Given the description of an element on the screen output the (x, y) to click on. 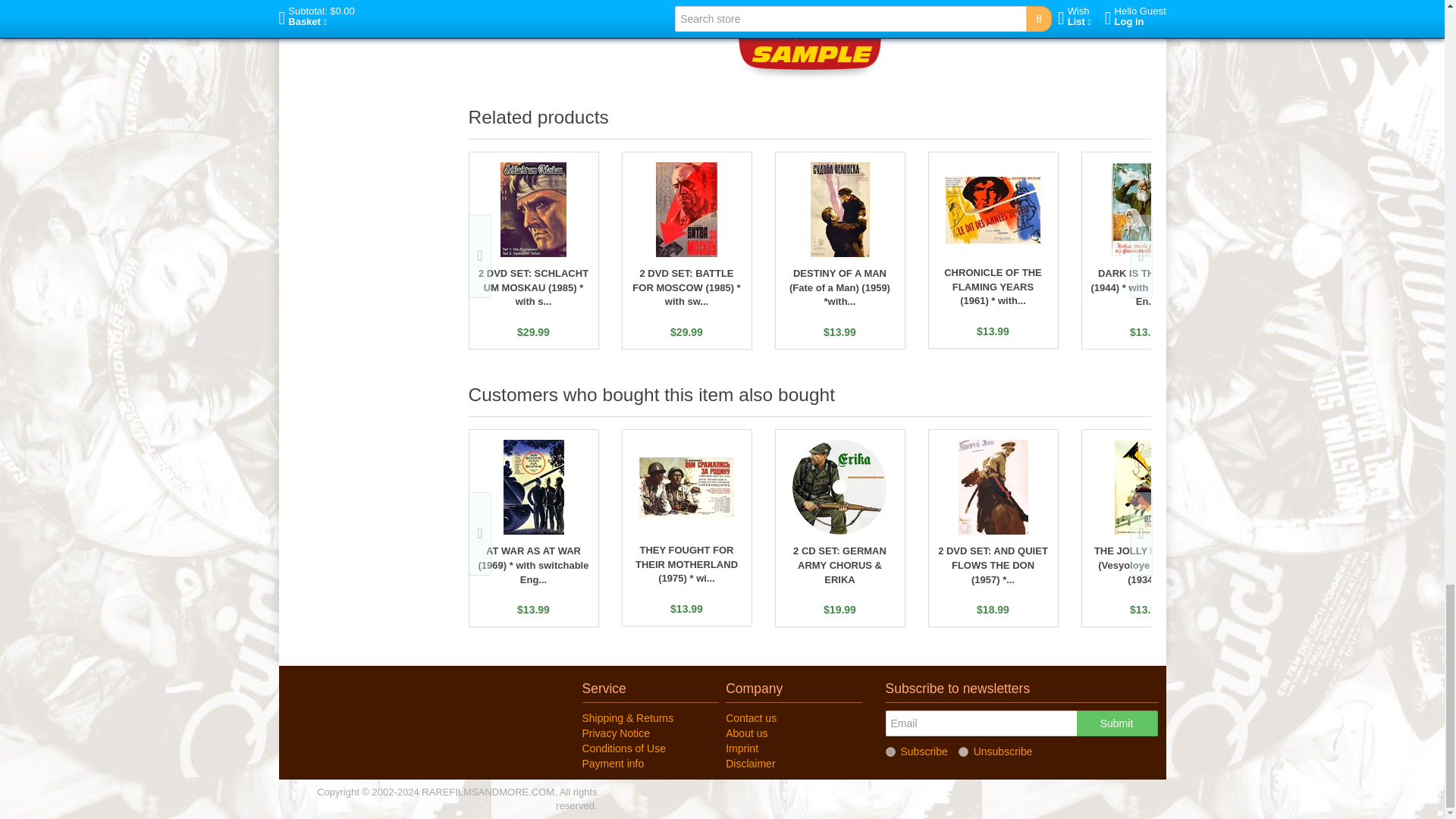
newsletter-subscribe (890, 751)
newsletter-unsubscribe (963, 751)
